Given the description of an element on the screen output the (x, y) to click on. 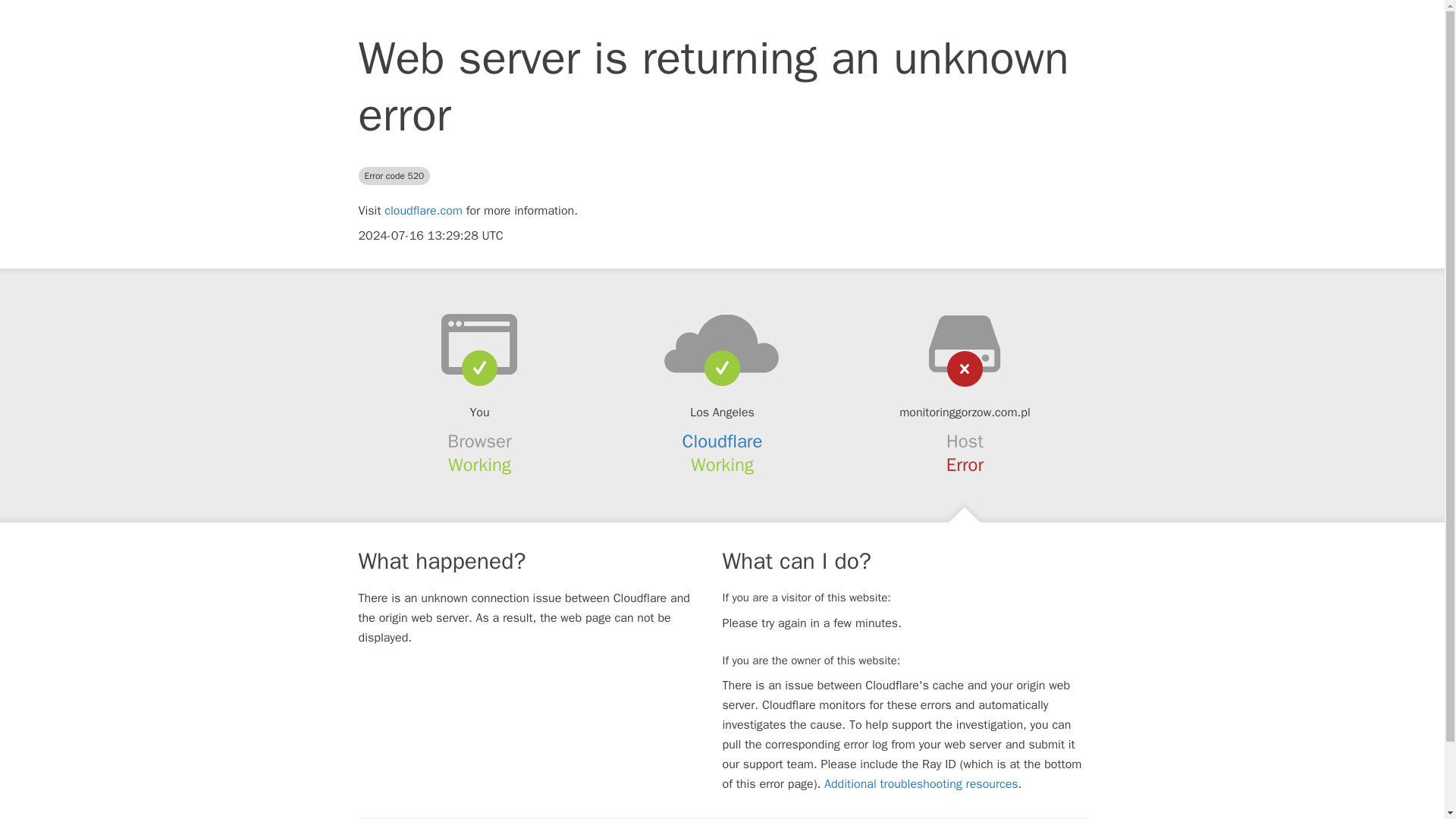
Additional troubleshooting resources (920, 783)
cloudflare.com (423, 210)
Cloudflare (722, 440)
